Given the description of an element on the screen output the (x, y) to click on. 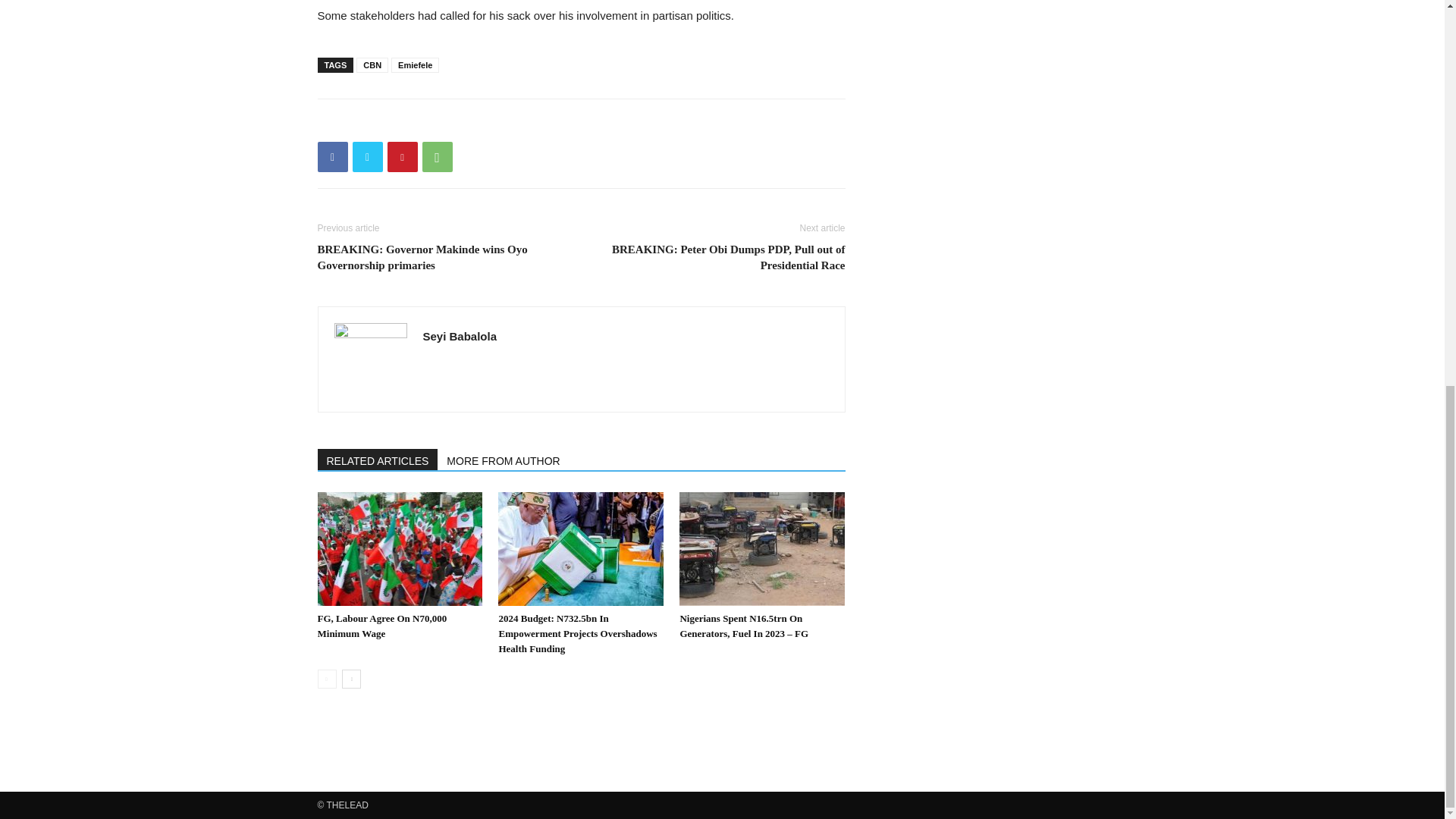
Facebook (332, 156)
WhatsApp (436, 156)
FG, Labour agree on N70,000 minimum wage (381, 625)
Pinterest (401, 156)
FG, Labour agree on N70,000 minimum wage (399, 549)
bottomFacebookLike (430, 123)
Emiefele (415, 64)
CBN (372, 64)
Twitter (366, 156)
